Given the description of an element on the screen output the (x, y) to click on. 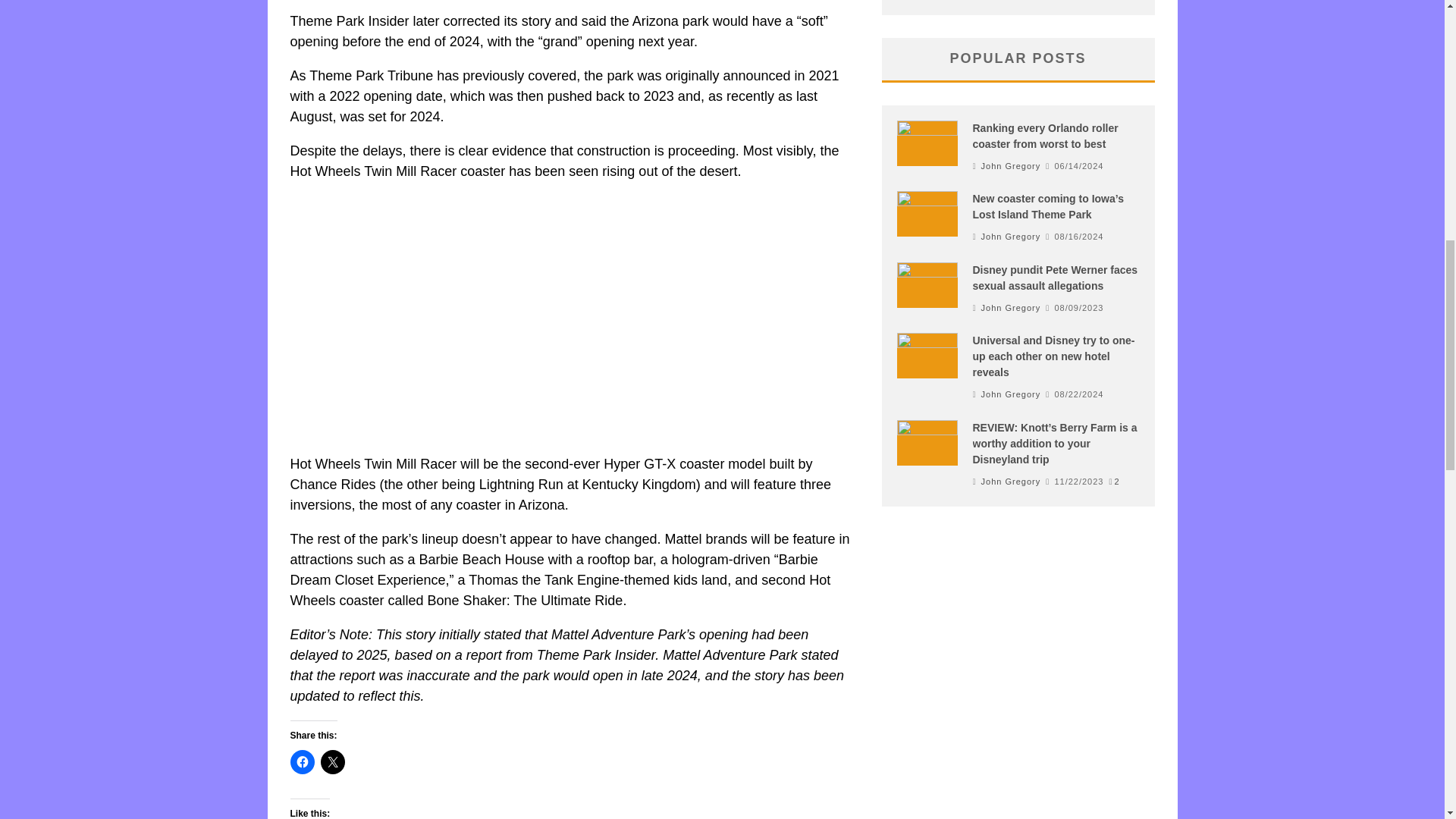
Click to share on Facebook (301, 761)
Click to share on X (331, 761)
YouTube video player (501, 314)
